Given the description of an element on the screen output the (x, y) to click on. 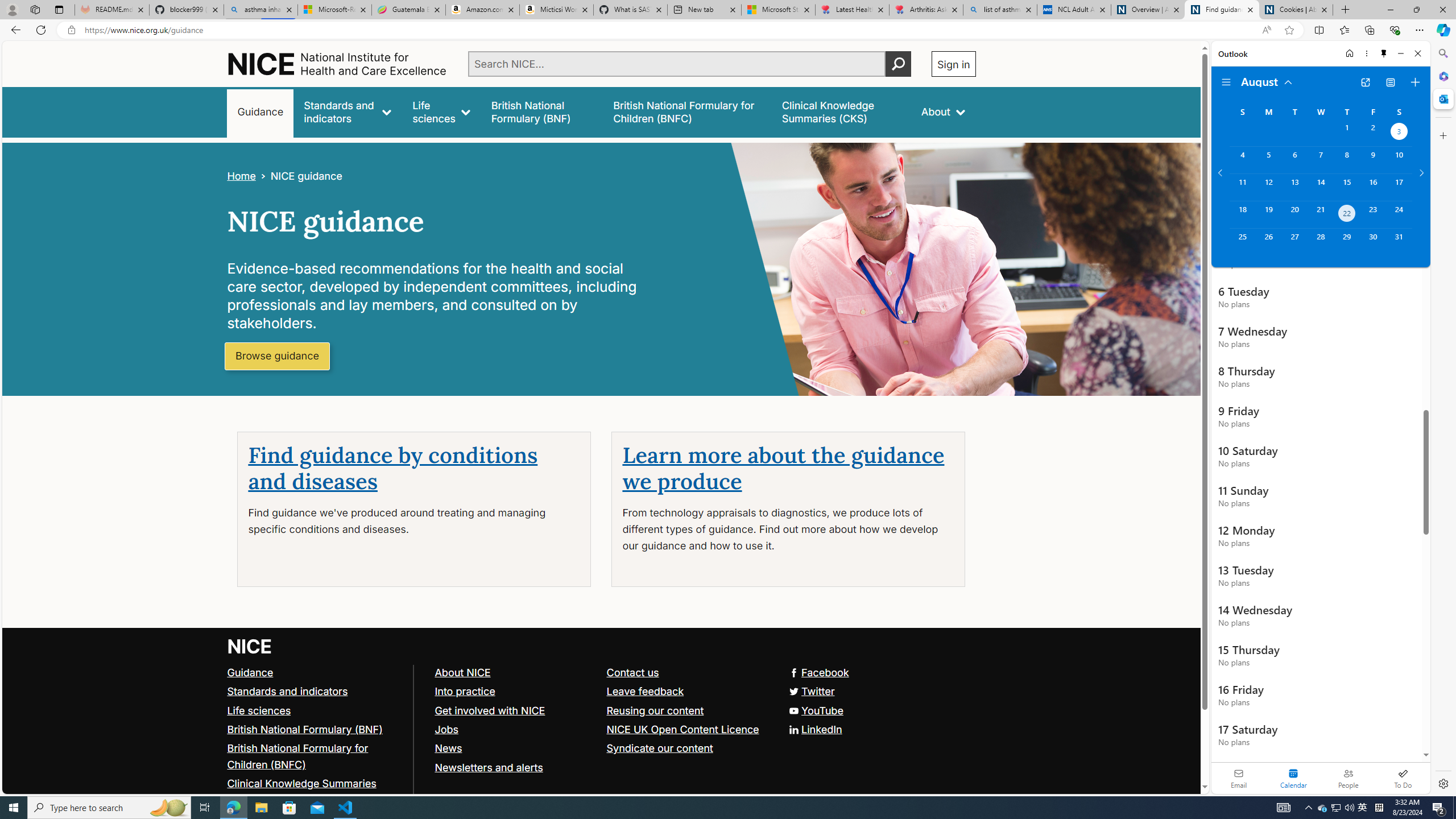
LinkedIn (601, 729)
Thursday, August 15, 2024.  (1346, 186)
Find guidance by conditions and diseases (392, 468)
Folder navigation (1225, 82)
Wednesday, August 14, 2024.  (1320, 186)
Syndicate our content (659, 748)
Syndicate our content (686, 747)
Friday, August 9, 2024.  (1372, 159)
Monday, August 12, 2024.  (1268, 186)
Contact us (632, 671)
